Given the description of an element on the screen output the (x, y) to click on. 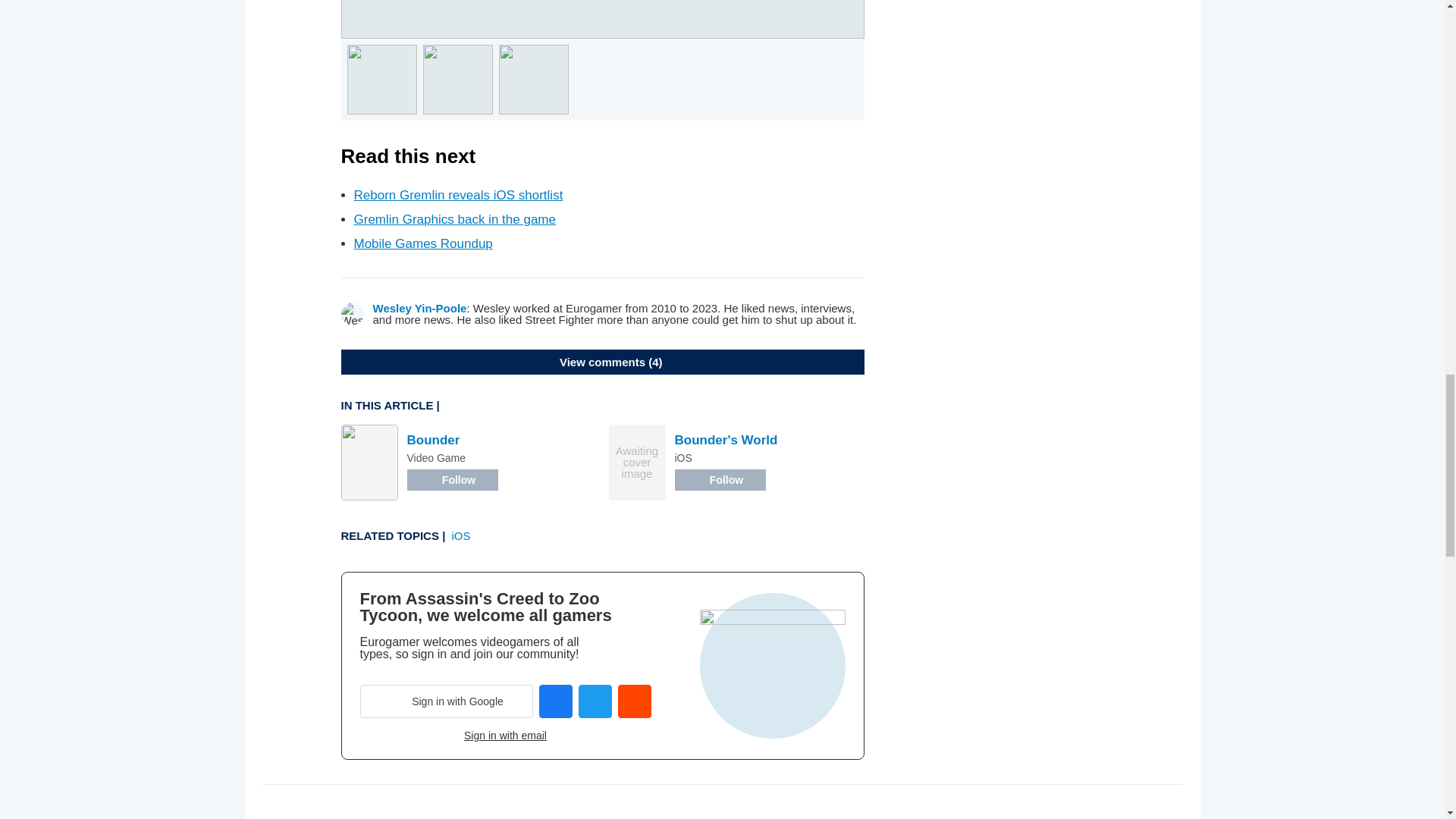
Wesley Yin-Poole (419, 308)
Gremlin Graphics back in the game (453, 219)
Mobile Games Roundup (422, 243)
Reborn Gremlin reveals iOS shortlist (457, 195)
